Given the description of an element on the screen output the (x, y) to click on. 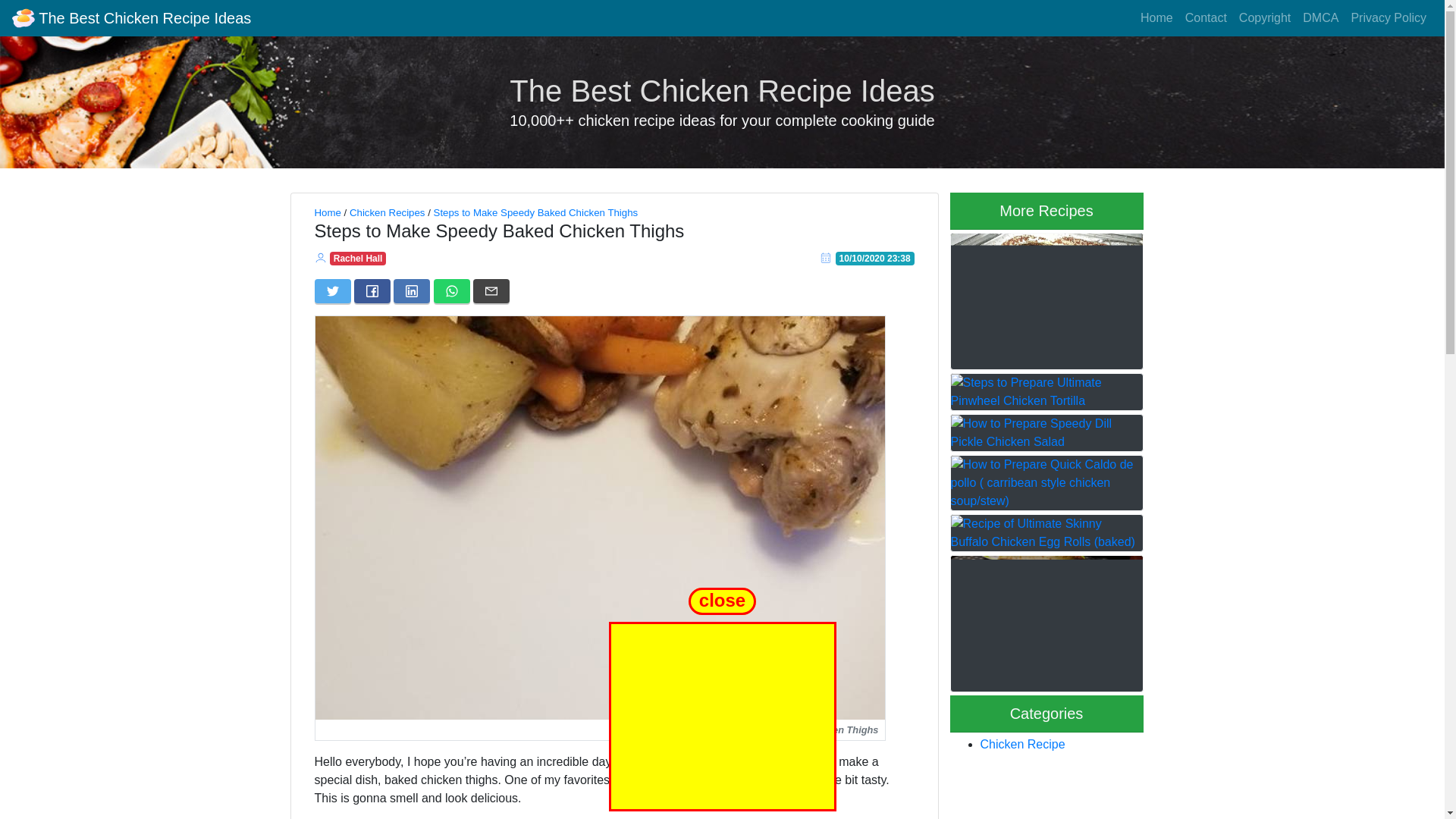
Contact (1206, 18)
DMCA (1320, 18)
Chicken Recipe (1021, 744)
Copyright (1265, 18)
Home (1156, 18)
Rachel Hall (357, 258)
Home (327, 212)
Chicken Recipes (387, 212)
close (722, 599)
Privacy Policy (1387, 18)
